Given the description of an element on the screen output the (x, y) to click on. 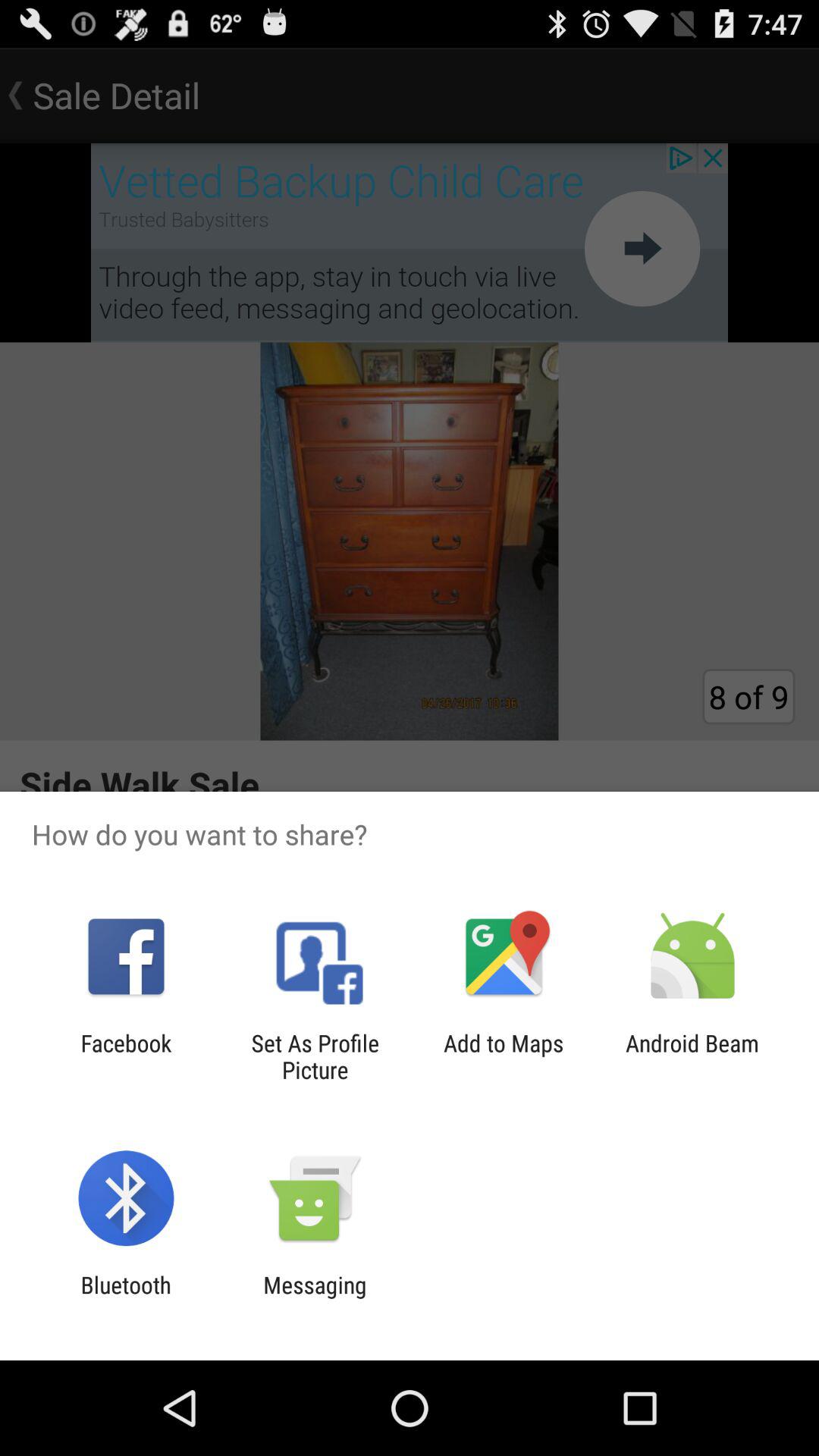
click the messaging icon (314, 1298)
